Given the description of an element on the screen output the (x, y) to click on. 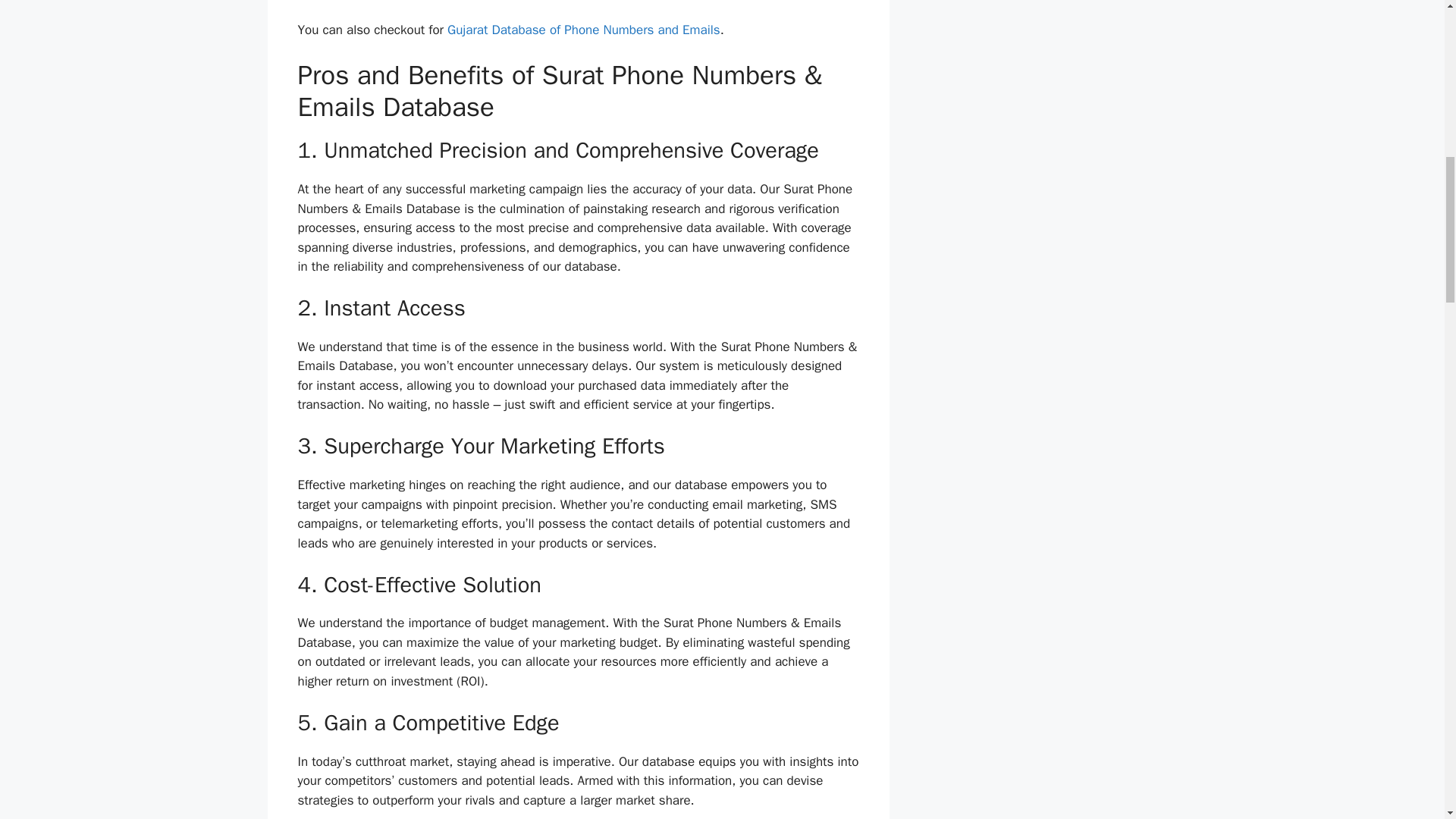
Gujarat Database of Phone Numbers and Emails (583, 29)
